Given the description of an element on the screen output the (x, y) to click on. 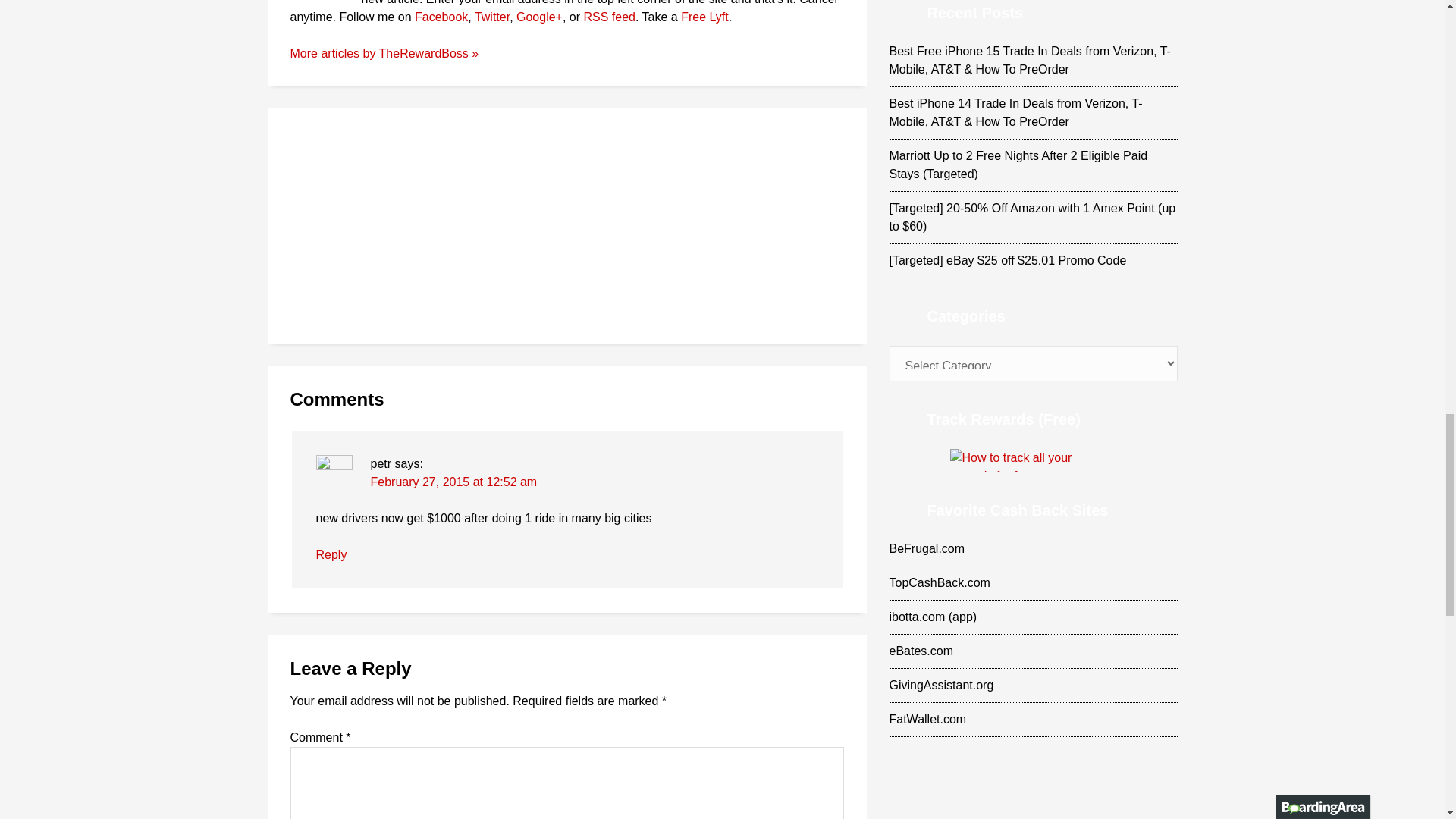
Twitter (491, 16)
Free Lyft (705, 16)
How to track all your rewards for free. (1032, 460)
RSS feed (608, 16)
Facebook (440, 16)
